Given the description of an element on the screen output the (x, y) to click on. 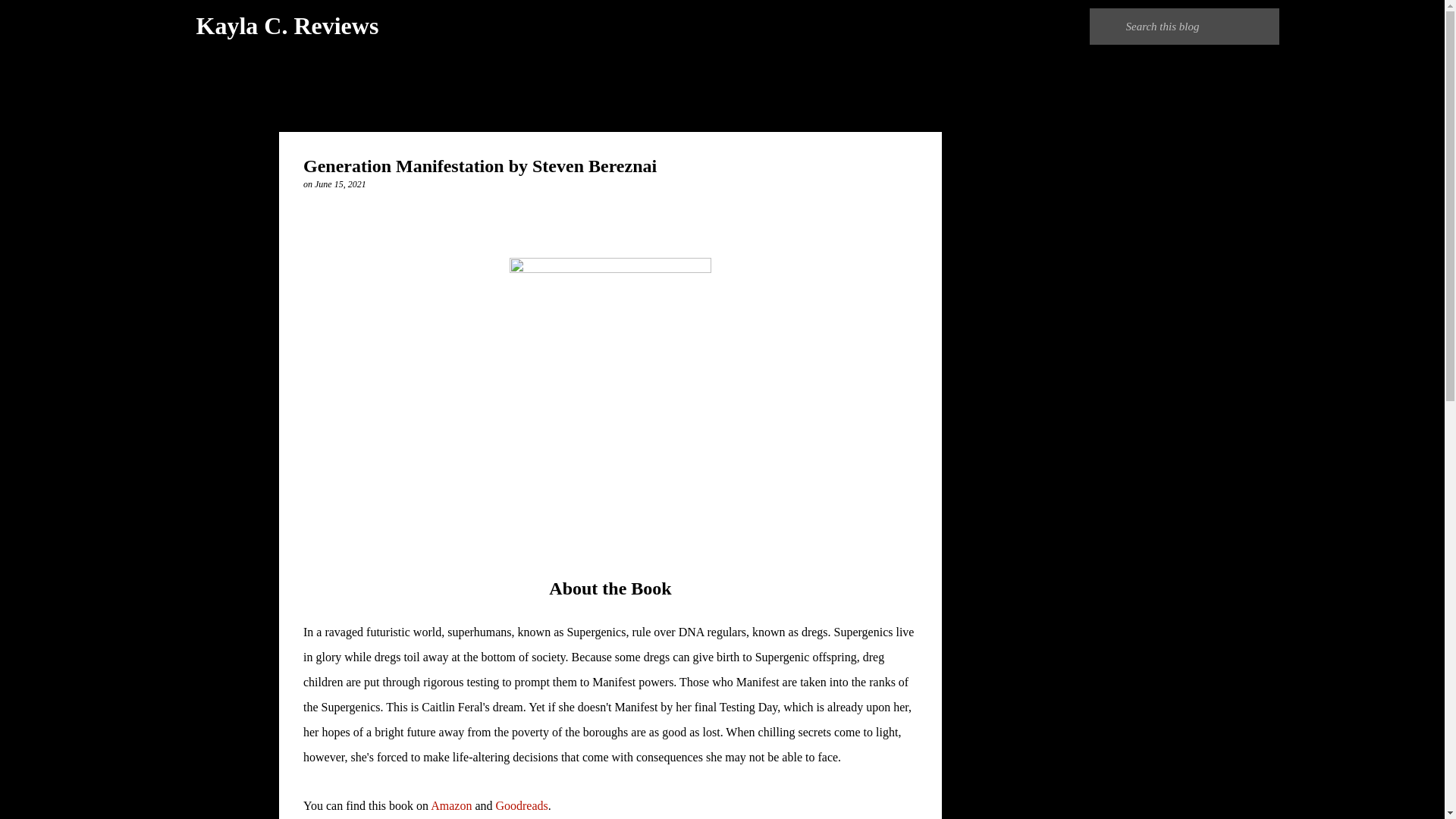
Kayla C. Reviews (286, 25)
June 15, 2021 (340, 184)
Amazon (450, 805)
Goodreads (521, 805)
permanent link (340, 184)
